Given the description of an element on the screen output the (x, y) to click on. 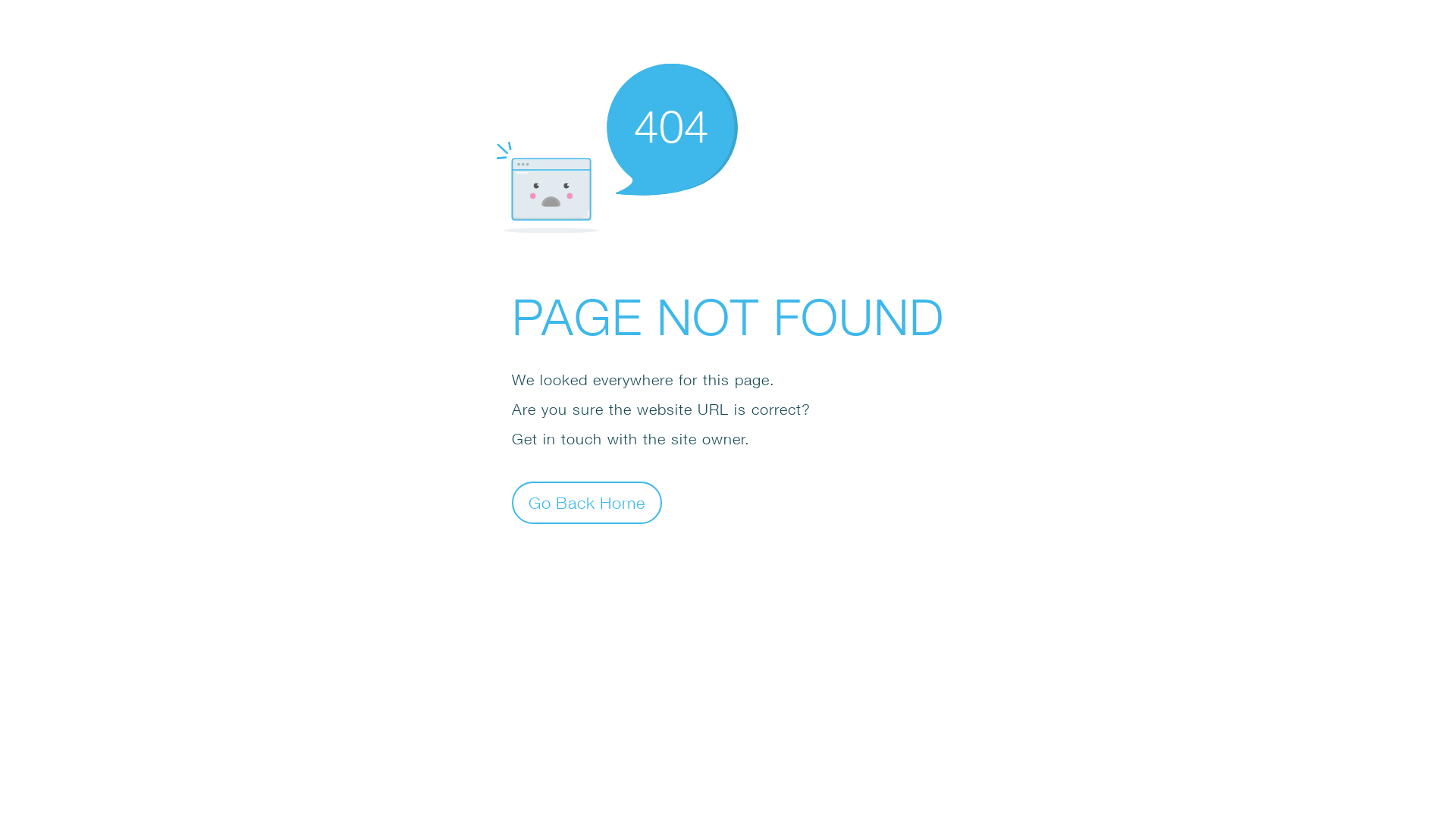
Go Back Home Element type: text (586, 502)
